Given the description of an element on the screen output the (x, y) to click on. 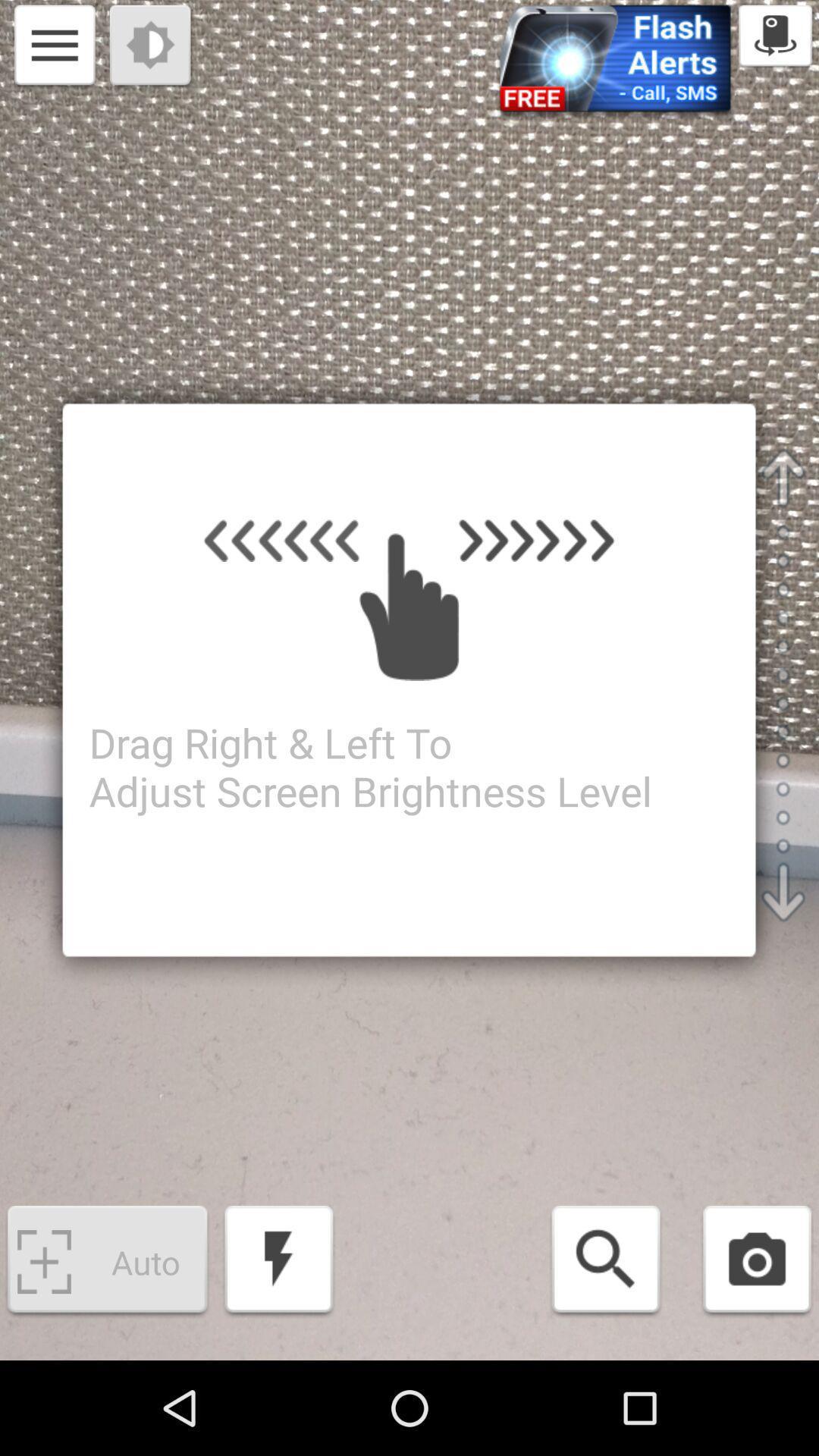
open camera (756, 1261)
